Given the description of an element on the screen output the (x, y) to click on. 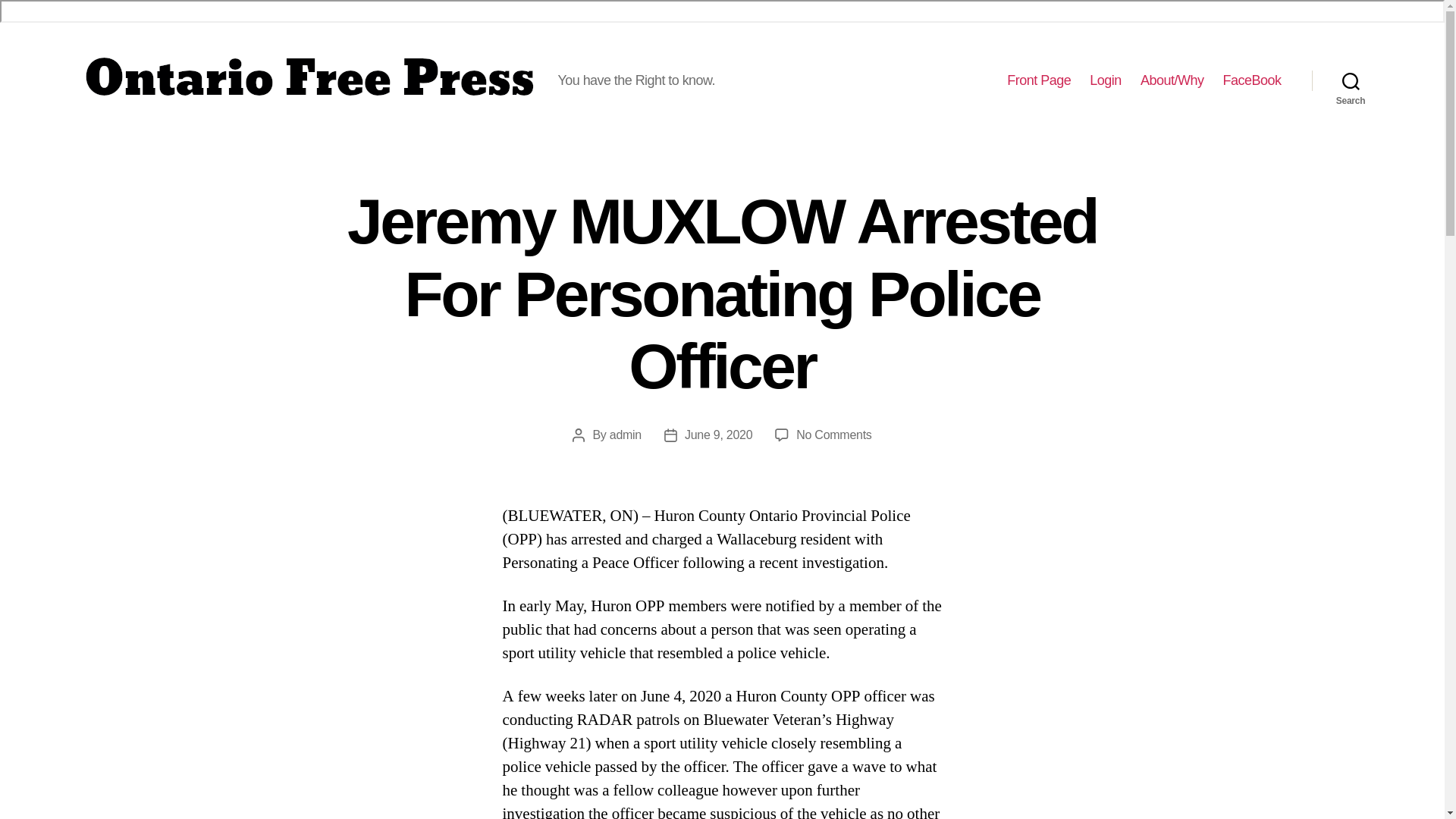
admin (626, 434)
Search (1350, 80)
Login (1105, 80)
June 9, 2020 (718, 434)
Front Page (1038, 80)
FaceBook (1252, 80)
